Given the description of an element on the screen output the (x, y) to click on. 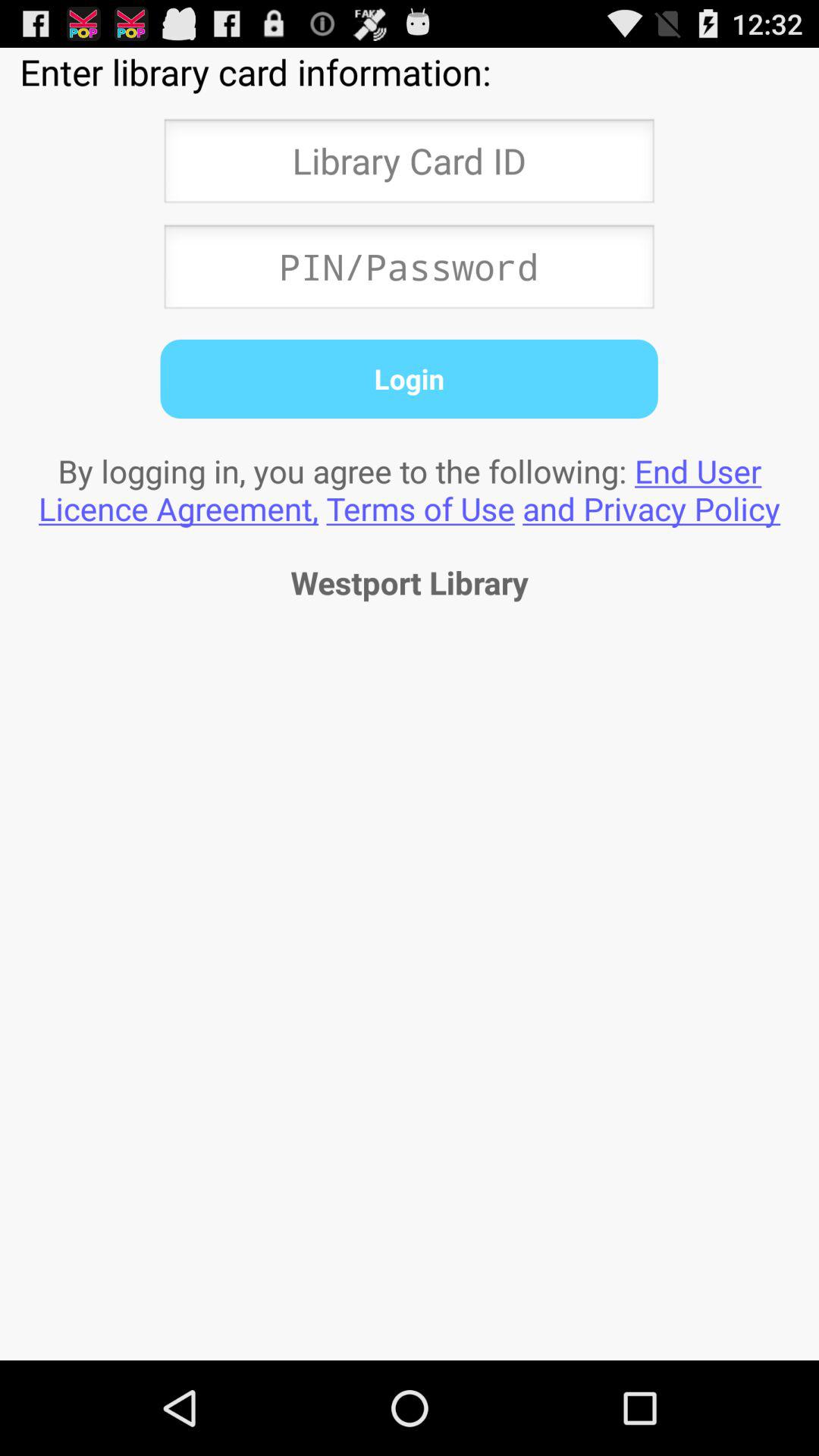
flip until login item (409, 378)
